Given the description of an element on the screen output the (x, y) to click on. 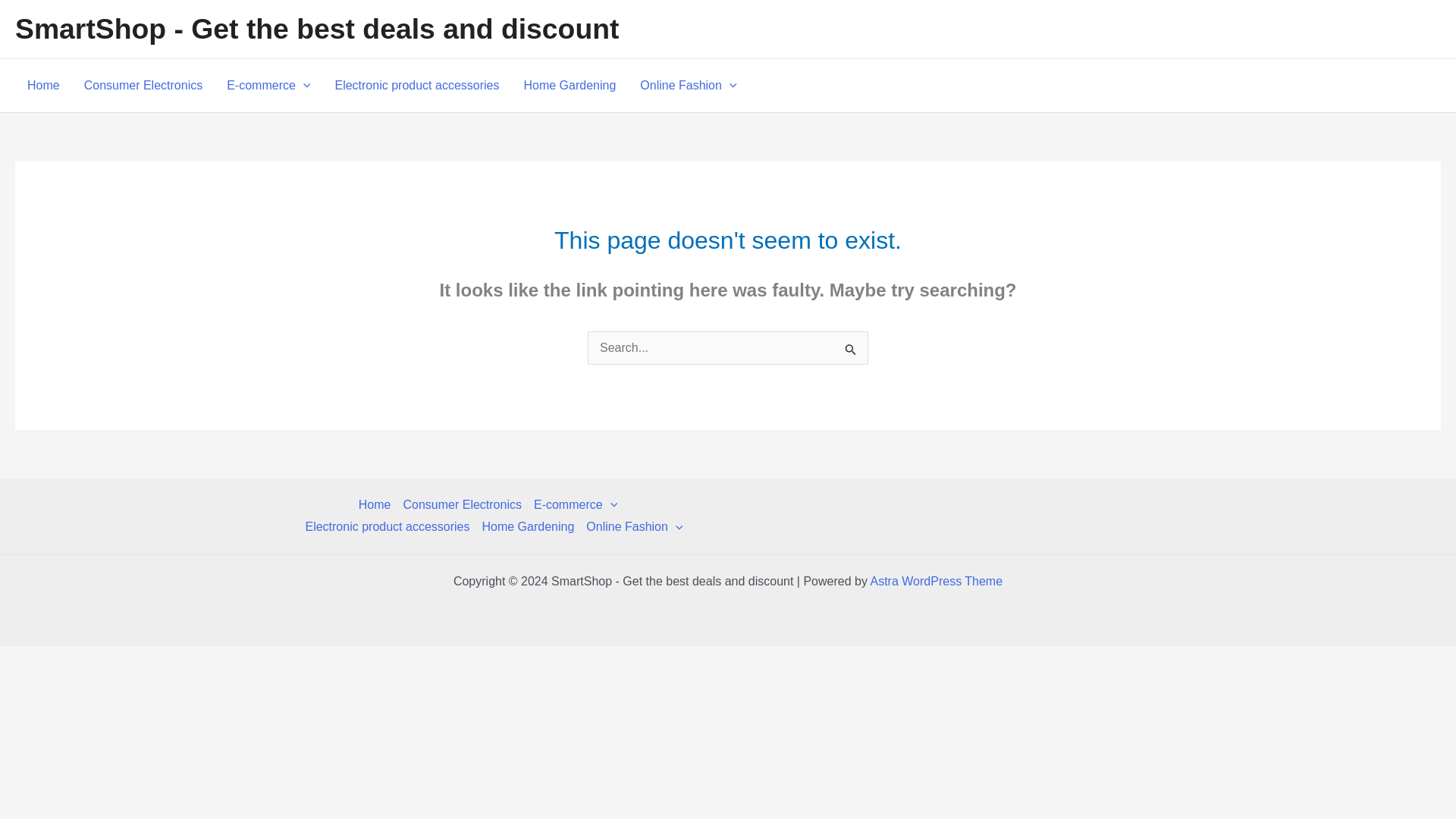
Home (377, 504)
Online Fashion (630, 526)
E-commerce (575, 504)
Electronic product accessories (387, 526)
Home Gardening (527, 526)
Consumer Electronics (461, 504)
Online Fashion (687, 85)
E-commerce (267, 85)
Home Gardening (569, 85)
Consumer Electronics (143, 85)
